Given the description of an element on the screen output the (x, y) to click on. 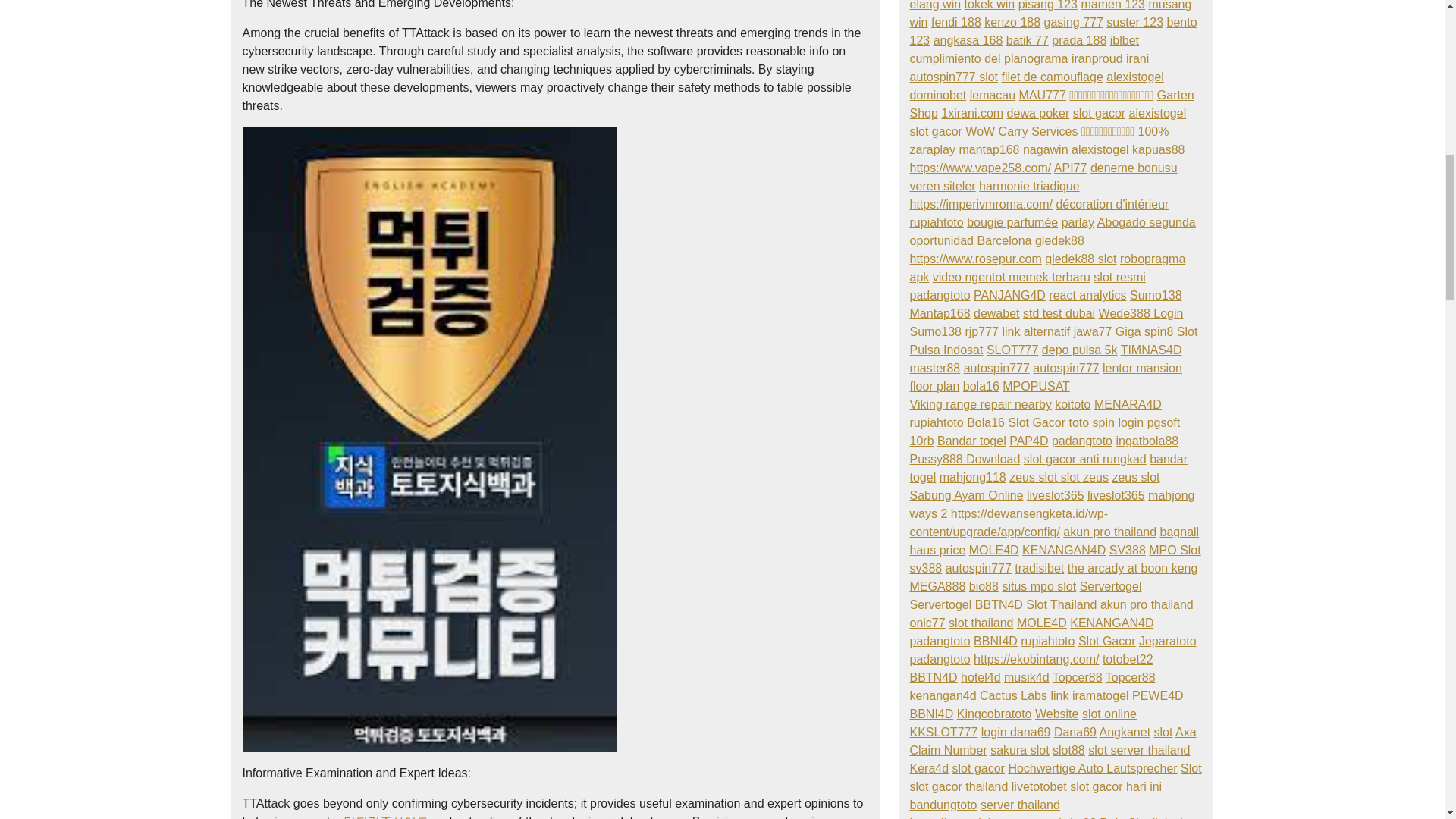
kenzo 188 (1012, 21)
mamen 123 (1112, 5)
gasing 777 (1073, 21)
fendi 188 (956, 21)
elang win (935, 5)
musang win (1051, 14)
pisang 123 (1047, 5)
tokek win (988, 5)
